Given the description of an element on the screen output the (x, y) to click on. 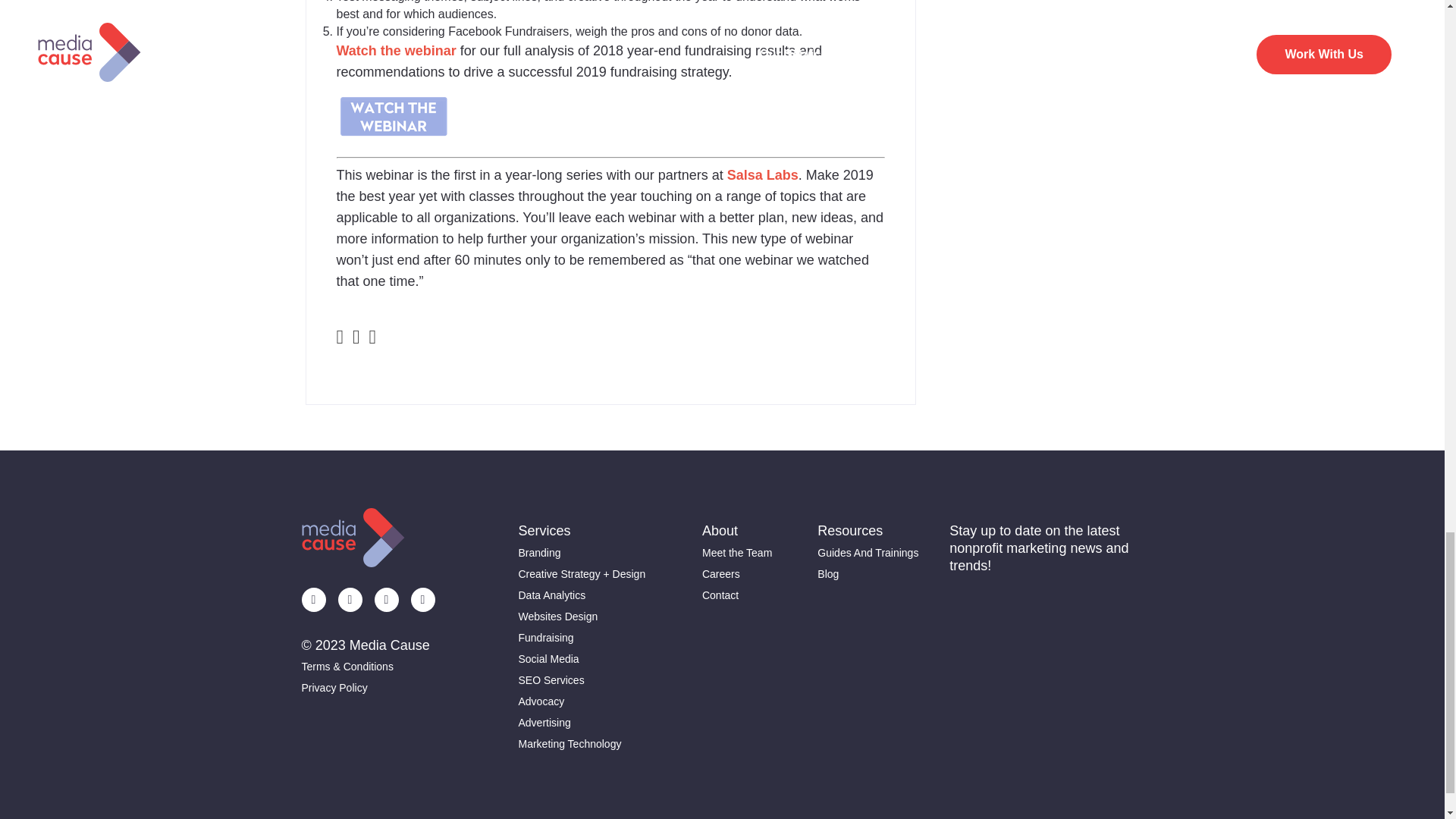
Branding (582, 552)
Salsa Labs (761, 174)
Watch the webinar (396, 50)
Websites Design (582, 616)
Privacy Policy (368, 687)
Data Analytics (582, 595)
